Given the description of an element on the screen output the (x, y) to click on. 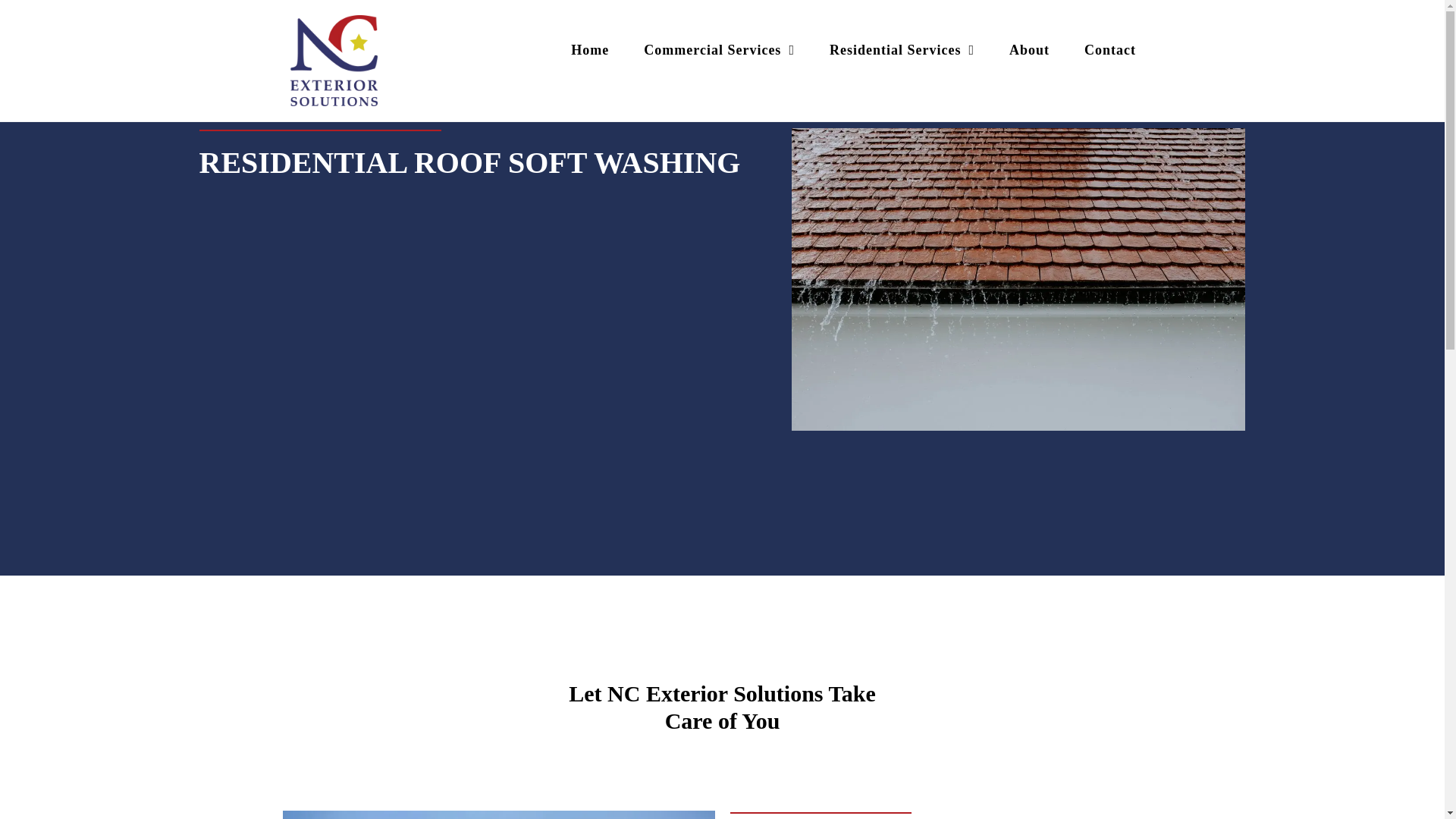
Contact (1109, 50)
Home (590, 50)
Commercial Services (718, 50)
About (1029, 50)
Residential Services (901, 50)
